Given the description of an element on the screen output the (x, y) to click on. 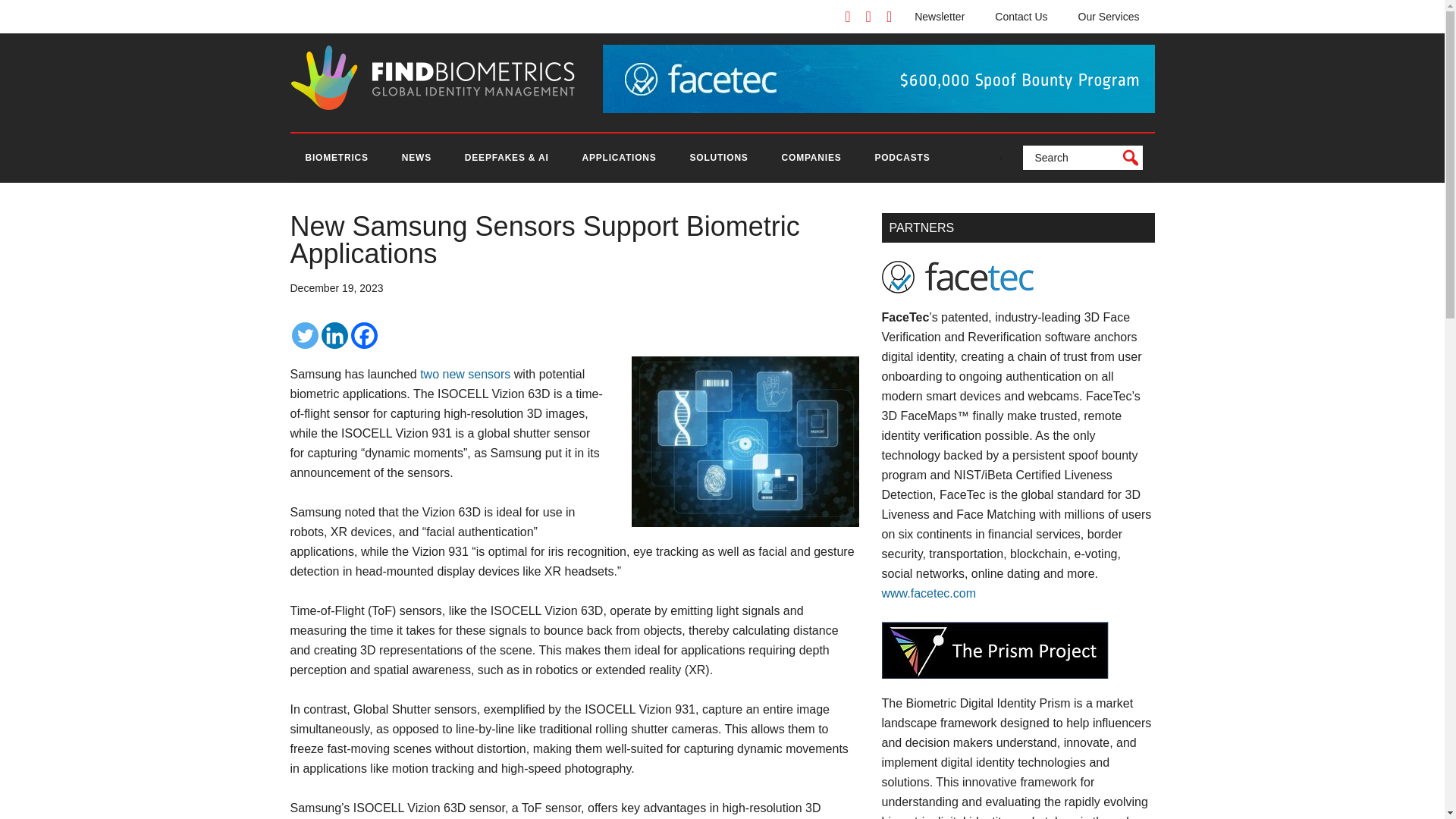
BIOMETRICS (335, 157)
Our Services (1108, 16)
NEWS (416, 157)
APPLICATIONS (619, 157)
Twitter (304, 335)
Newsletter (939, 16)
Facebook (363, 335)
Linkedin (334, 335)
Contact Us (1020, 16)
